Given the description of an element on the screen output the (x, y) to click on. 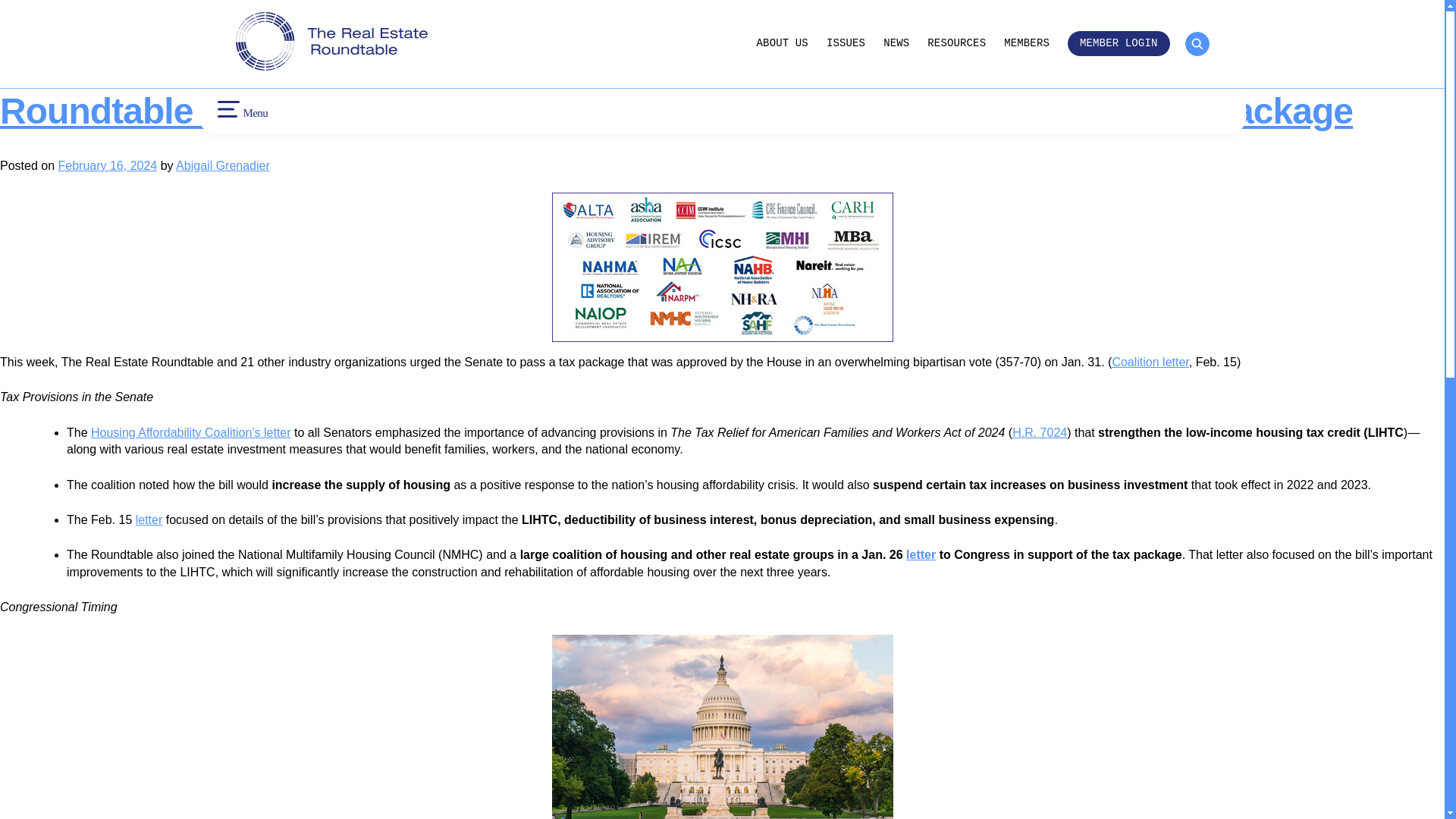
COMMERCIAL REAL ESTATE BY THE NUMBERS (824, 21)
RESOURCES (956, 42)
MEMBERS (1026, 42)
POLICY COMMENT LETTERS (783, 1)
MEMBER ROSTER (1016, 14)
QUARTERLY SENTIMENT INDEX (791, 47)
ISSUES (845, 42)
NEWS (895, 42)
INFLATION REDUCTION ACT (536, 14)
ABOUT US (782, 42)
ROUNDTABLE STAFF (271, 14)
HOUSING (495, 39)
CONTACT US (253, 39)
